Given the description of an element on the screen output the (x, y) to click on. 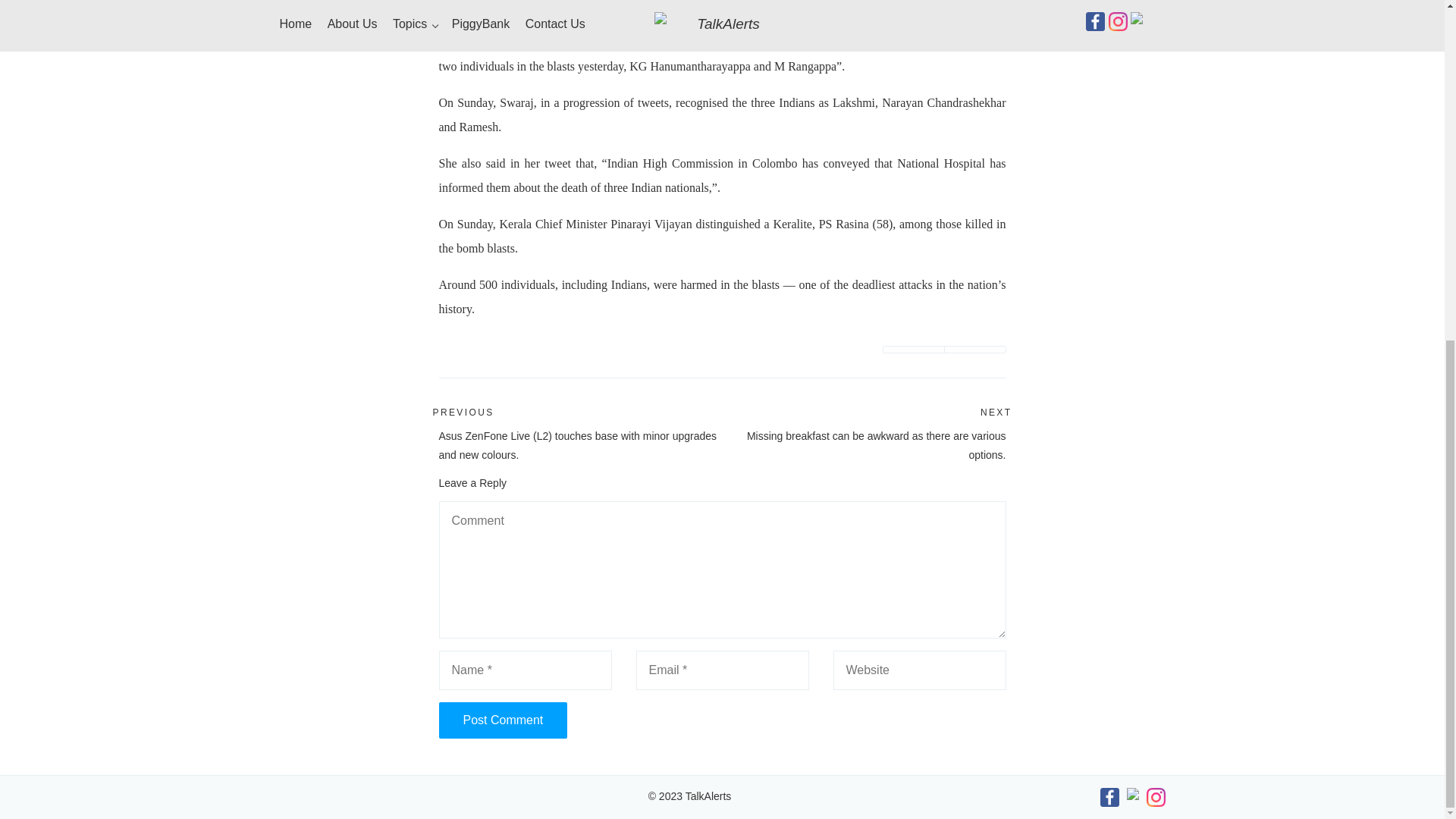
Share on Twitter (912, 349)
Post Comment (502, 719)
Post Comment (502, 719)
Share on Facebook (975, 349)
